Given the description of an element on the screen output the (x, y) to click on. 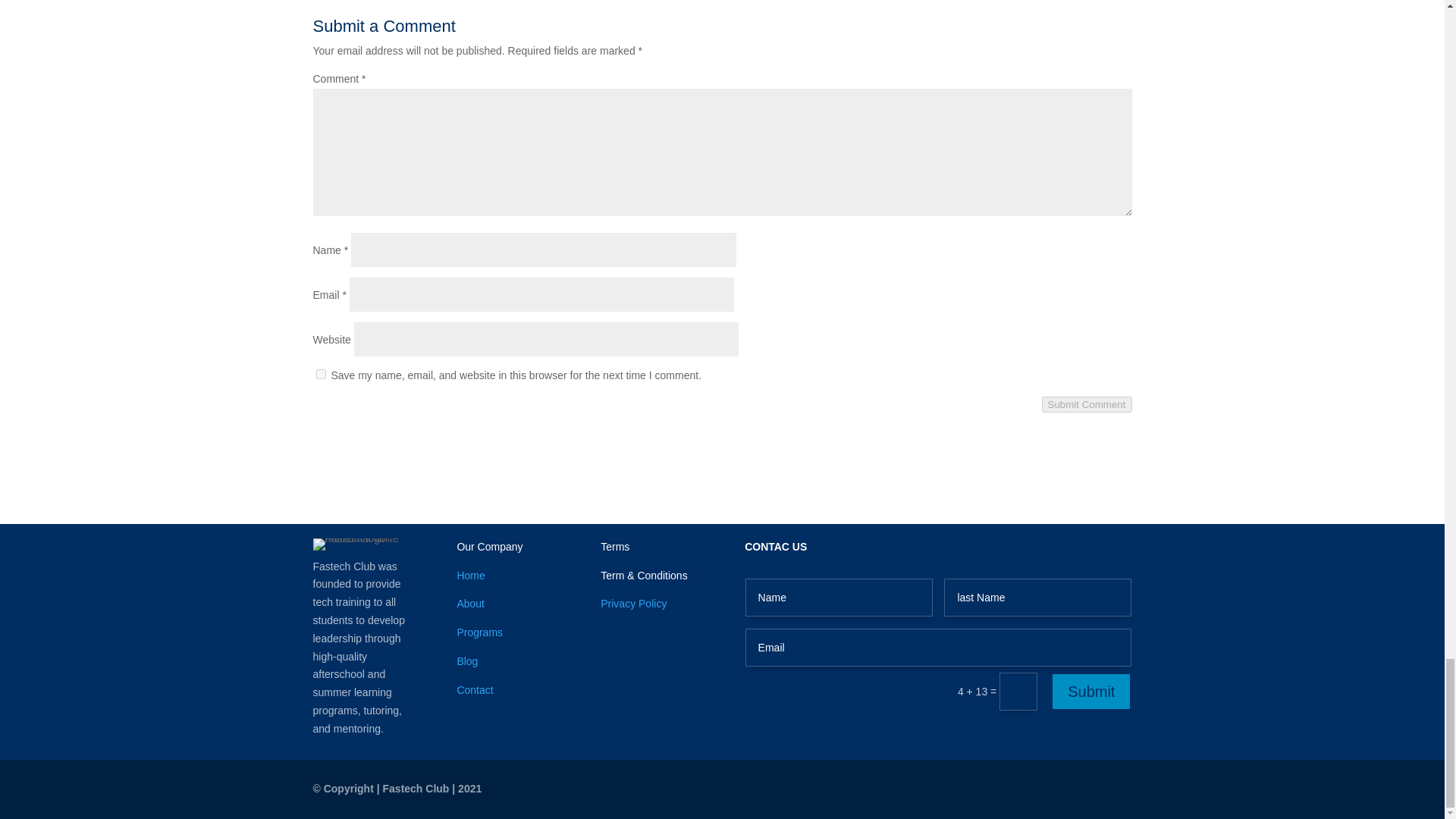
Privacy Policy (632, 603)
Submit Comment (1087, 404)
About (470, 603)
Submit (1091, 691)
Contact (475, 689)
fastech-hor-white-300px (361, 544)
yes (319, 374)
Programs (479, 632)
Home (470, 575)
Blog (467, 661)
